Given the description of an element on the screen output the (x, y) to click on. 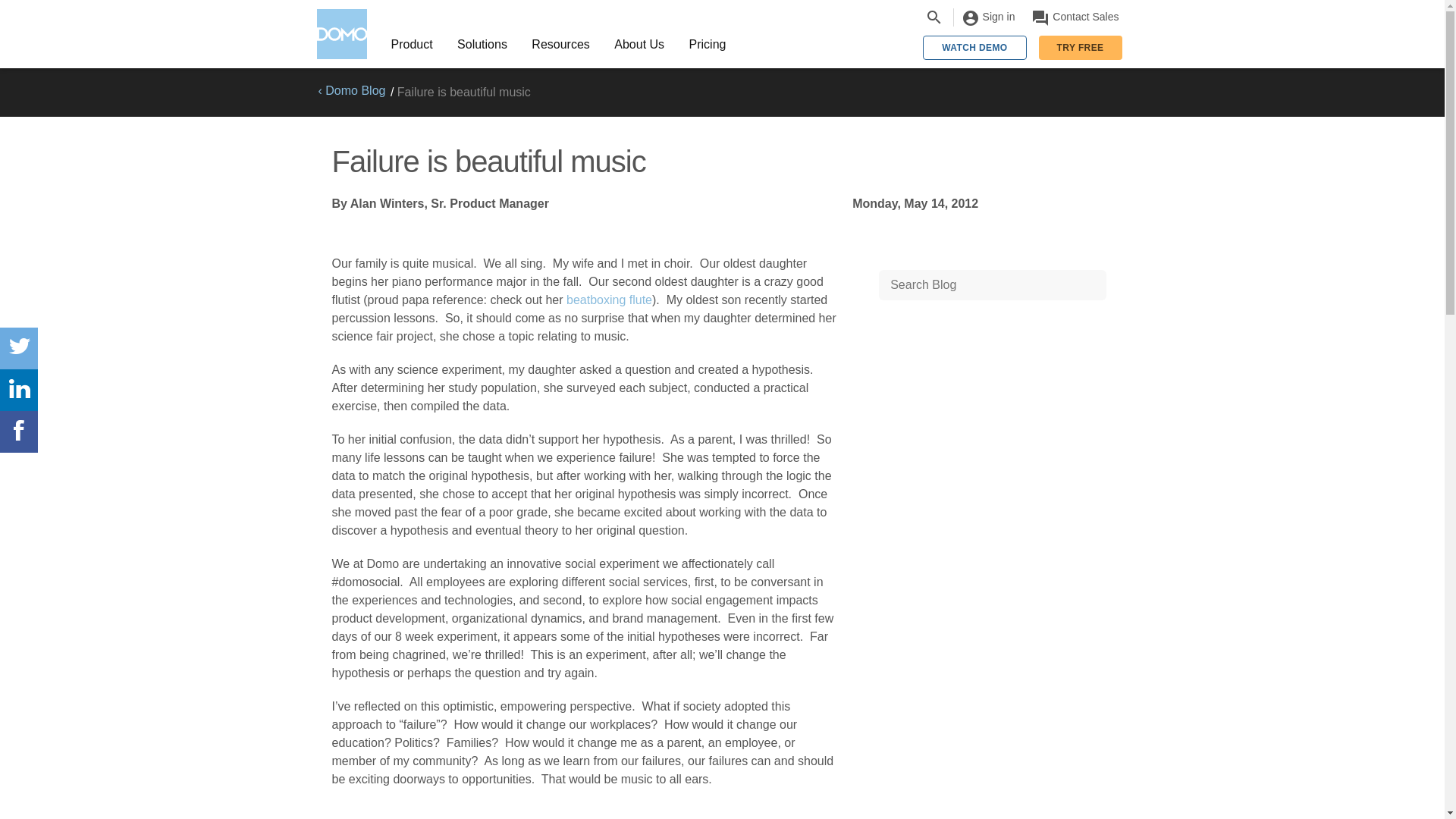
Pricing (707, 44)
Resources (560, 44)
Solutions (482, 44)
About Us (639, 44)
Beatboxing Flutist (609, 299)
Product (411, 44)
